Given the description of an element on the screen output the (x, y) to click on. 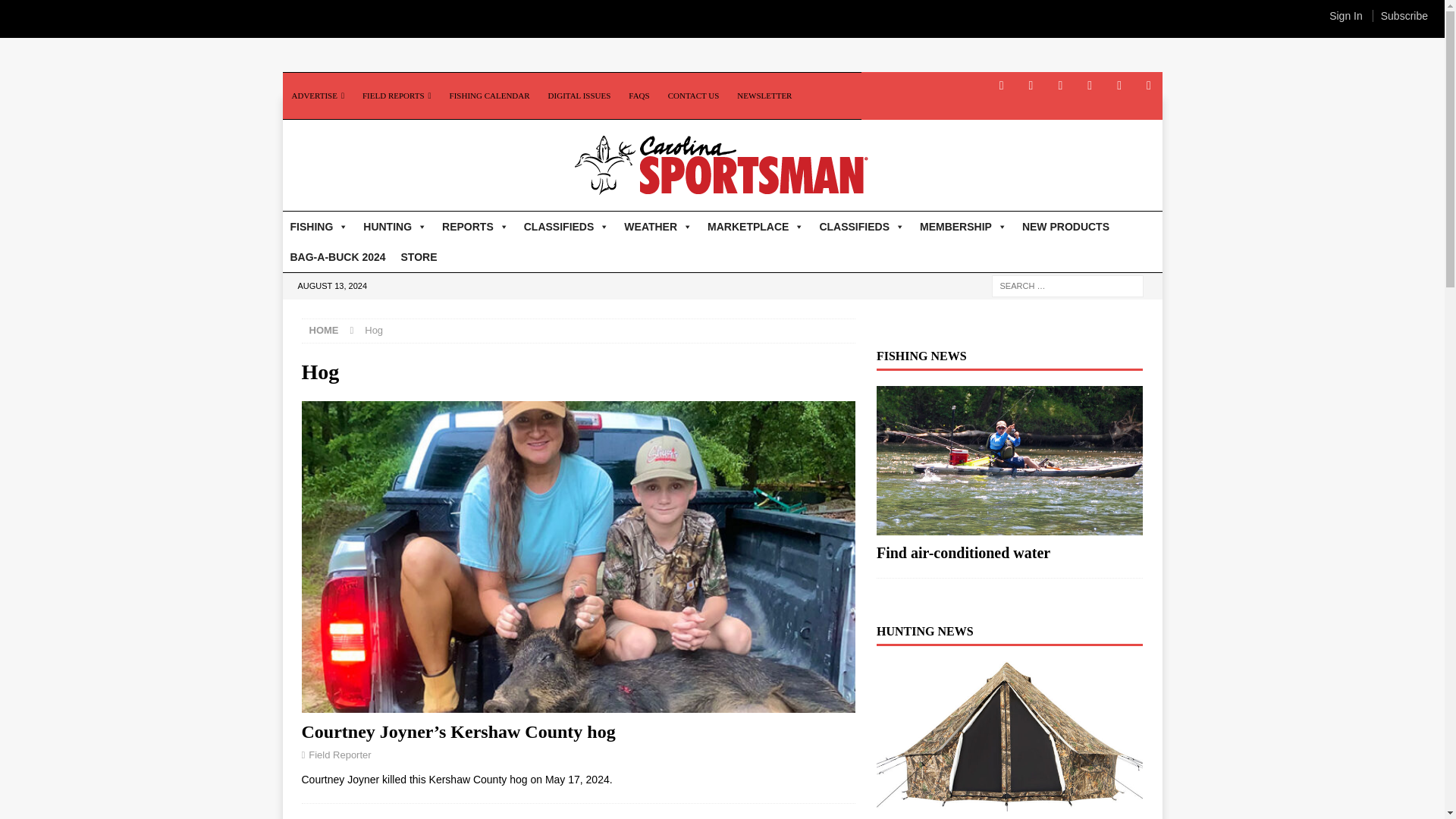
FISHING CALENDAR (489, 95)
NEWSLETTER (764, 95)
CONTACT US (694, 95)
ADVERTISE (317, 95)
FIELD REPORTS (397, 95)
DIGITAL ISSUES (579, 95)
